Given the description of an element on the screen output the (x, y) to click on. 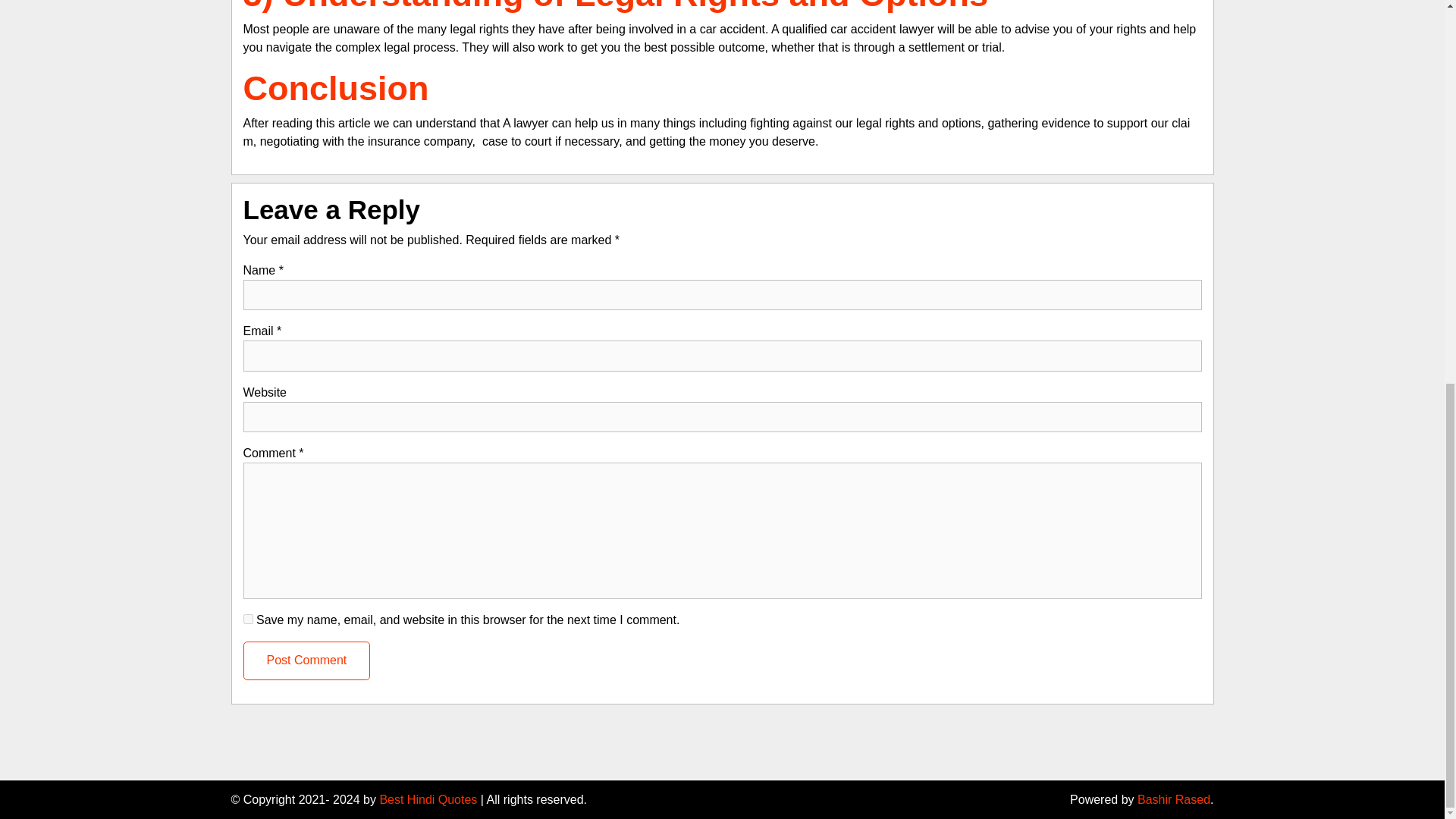
Bashir Rased (1173, 799)
Post Comment (306, 660)
Best Hindi Quotes (427, 799)
Post Comment (306, 660)
yes (247, 619)
